Given the description of an element on the screen output the (x, y) to click on. 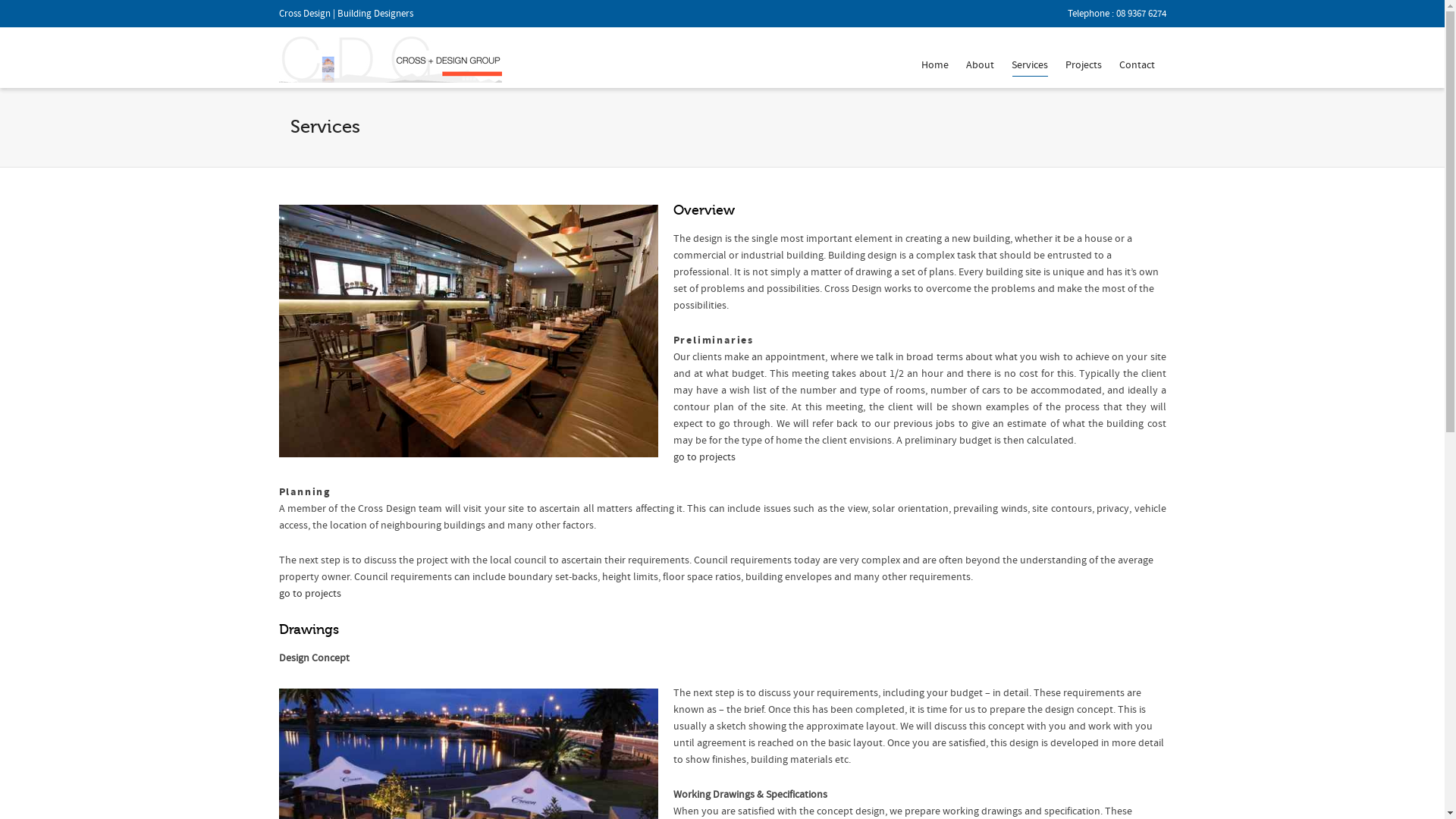
Contact Element type: text (1136, 65)
Projects Element type: text (1082, 65)
Home Element type: text (933, 65)
About Element type: text (980, 65)
Services Element type: text (1029, 65)
go to projects Element type: text (310, 593)
go to projects Element type: text (704, 457)
